Given the description of an element on the screen output the (x, y) to click on. 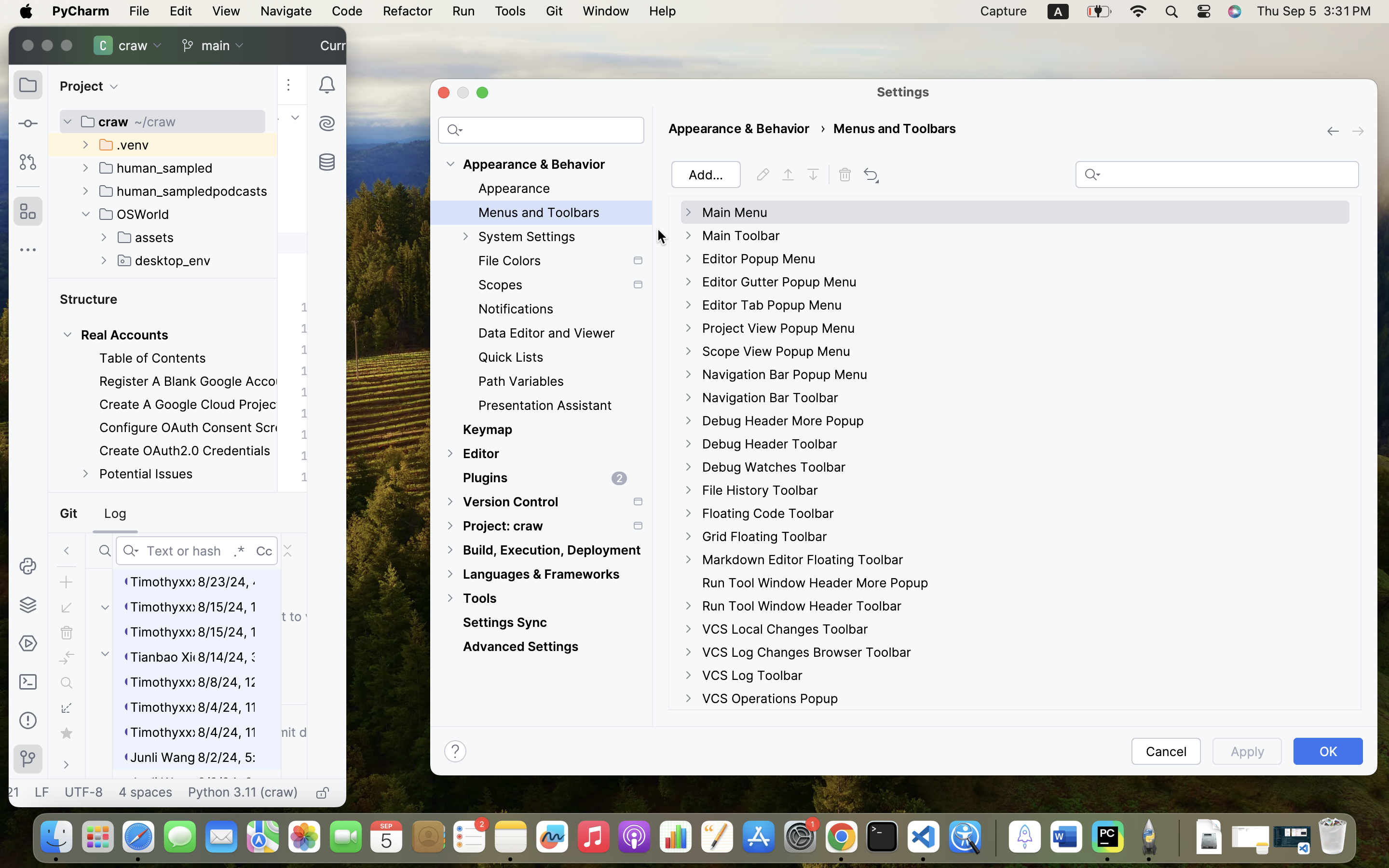
Settings Element type: AXStaticText (902, 91)
0.4285714328289032 Element type: AXDockItem (993, 837)
